Given the description of an element on the screen output the (x, y) to click on. 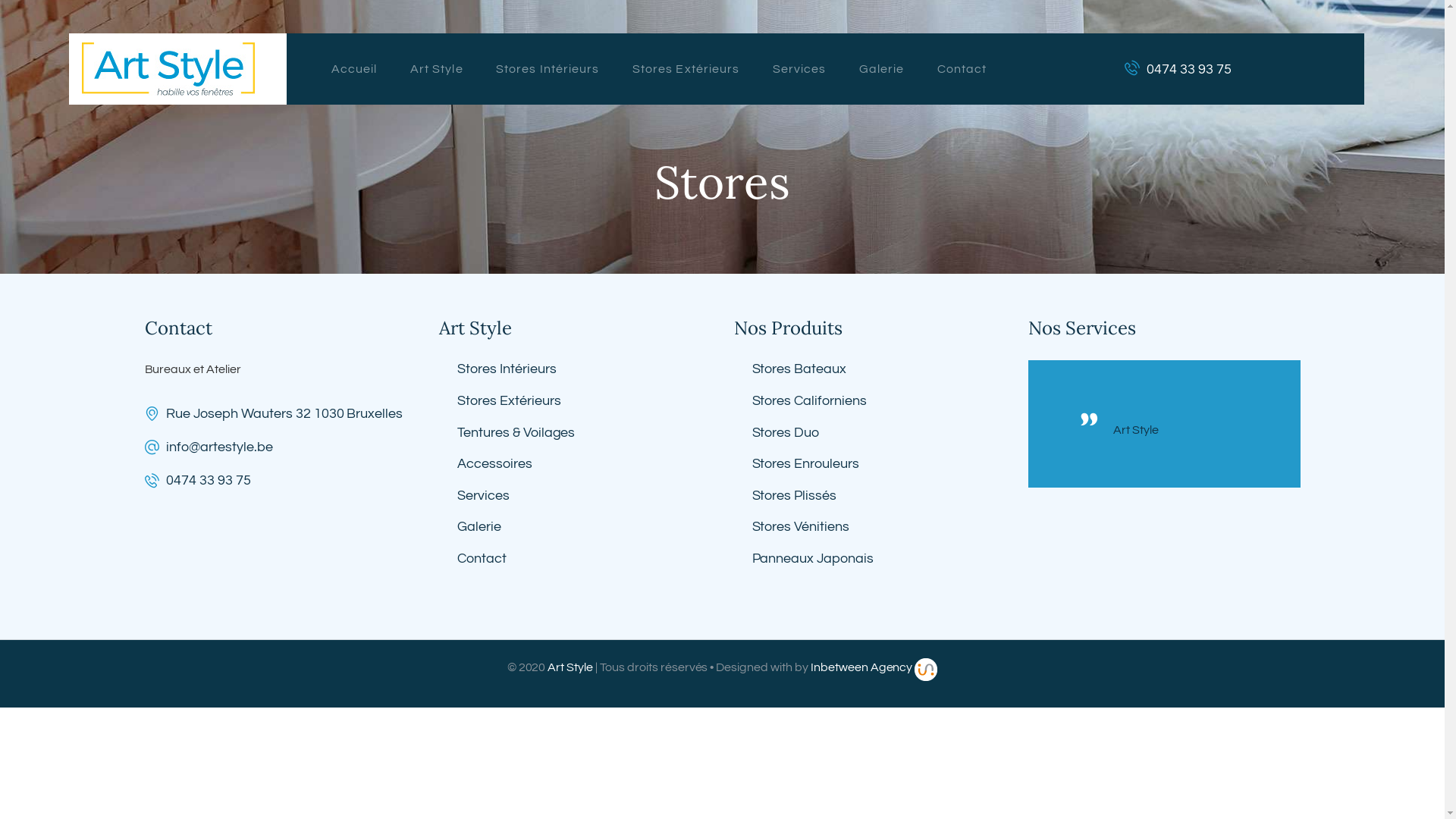
Panneaux Japonais Element type: text (813, 558)
0474 33 93 75 Element type: text (280, 480)
Accessoires Element type: text (494, 463)
Art Style Element type: text (570, 667)
Accueil Element type: text (353, 68)
Services Element type: text (483, 495)
Contact Element type: text (961, 68)
Stores Bateaux Element type: text (799, 368)
0474 33 93 75 Element type: text (1177, 68)
Contact Element type: text (481, 558)
Art Style Element type: text (1180, 429)
Services Element type: text (799, 68)
Stores Duo Element type: text (785, 432)
Stores Enrouleurs Element type: text (805, 463)
Art Style Element type: text (436, 68)
info@artestyle.be Element type: text (219, 446)
Stores Californiens Element type: text (809, 400)
Inbetween Agency Element type: text (861, 667)
Galerie Element type: text (479, 526)
Galerie Element type: text (881, 68)
Tentures & Voilages Element type: text (515, 432)
